Given the description of an element on the screen output the (x, y) to click on. 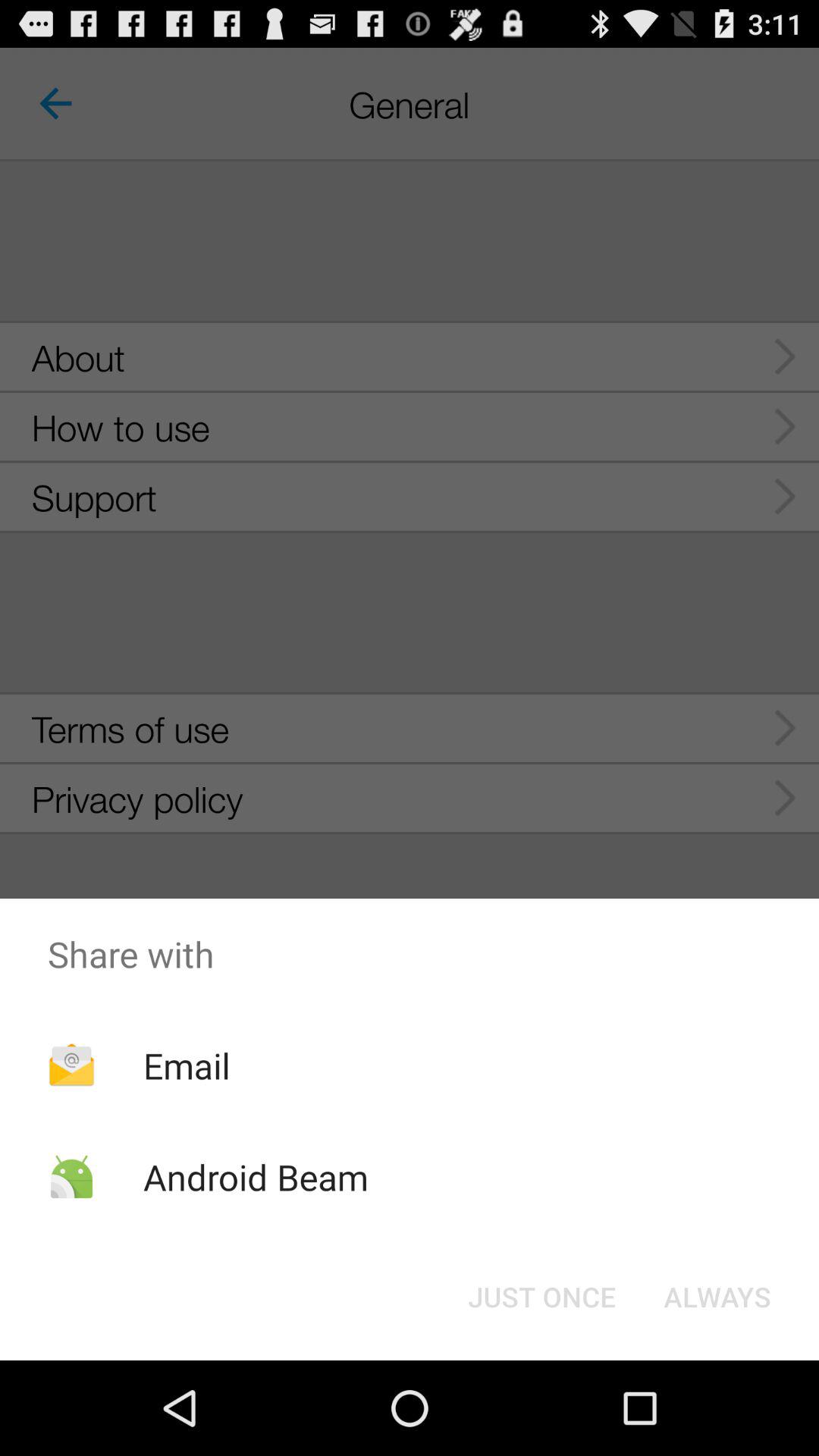
open button at the bottom (541, 1296)
